Given the description of an element on the screen output the (x, y) to click on. 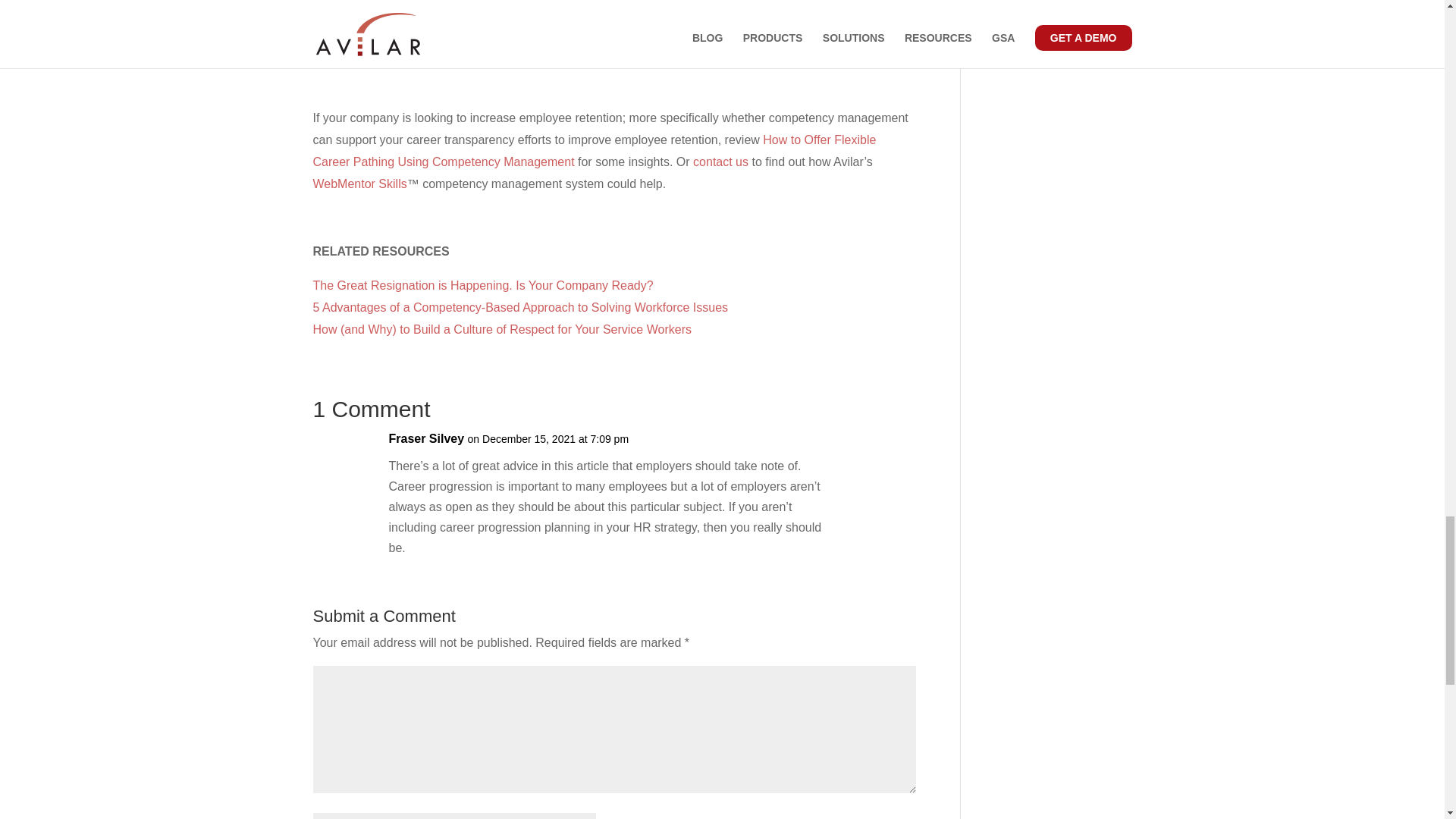
WebMentor Skills (359, 183)
The Great Resignation is Happening. Is Your Company Ready? (482, 285)
contact us (720, 161)
Reply (879, 452)
Fraser Silvey (426, 438)
